Given the description of an element on the screen output the (x, y) to click on. 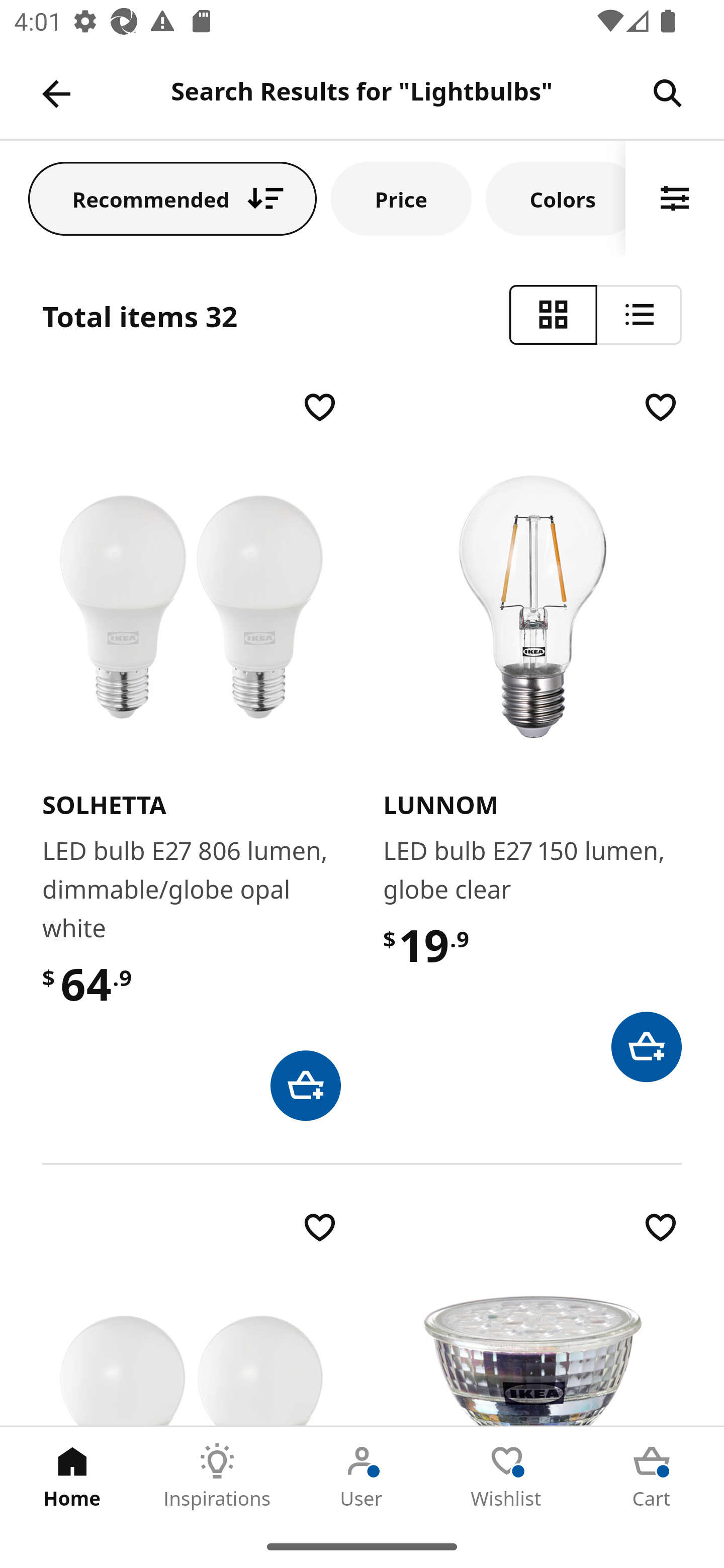
Recommended (172, 198)
Price (400, 198)
Colors (555, 198)
Home
Tab 1 of 5 (72, 1476)
Inspirations
Tab 2 of 5 (216, 1476)
User
Tab 3 of 5 (361, 1476)
Wishlist
Tab 4 of 5 (506, 1476)
Cart
Tab 5 of 5 (651, 1476)
